Given the description of an element on the screen output the (x, y) to click on. 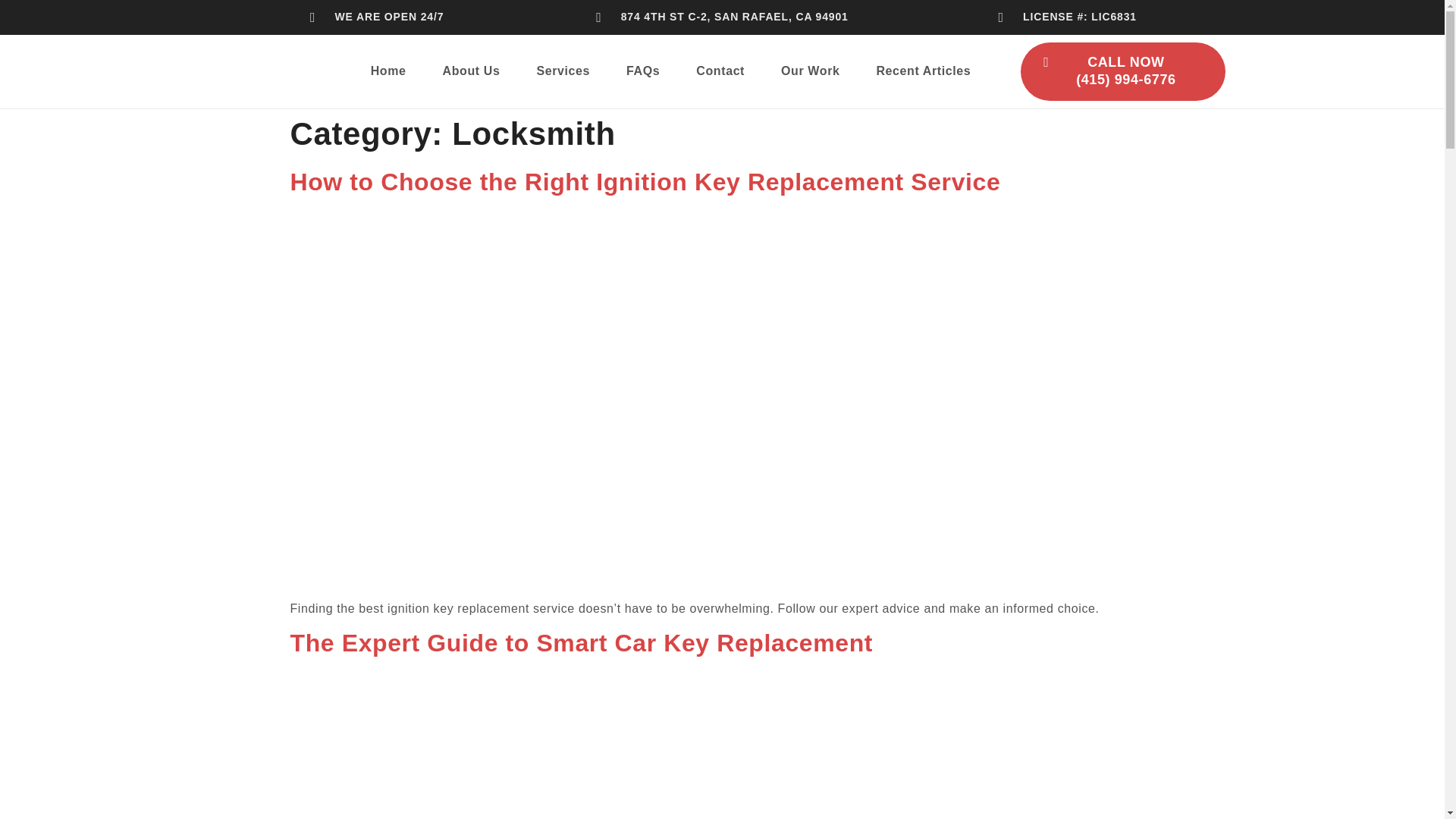
Recent Articles (922, 71)
About Us (471, 71)
FAQs (643, 71)
Home (388, 71)
The Expert Guide to Smart Car Key Replacement (721, 745)
Tal Niv Locksmith Logo without background (266, 71)
Services (563, 71)
874 4TH ST C-2, SAN RAFAEL, CA 94901 (721, 17)
Our Work (809, 71)
Contact (720, 71)
